Given the description of an element on the screen output the (x, y) to click on. 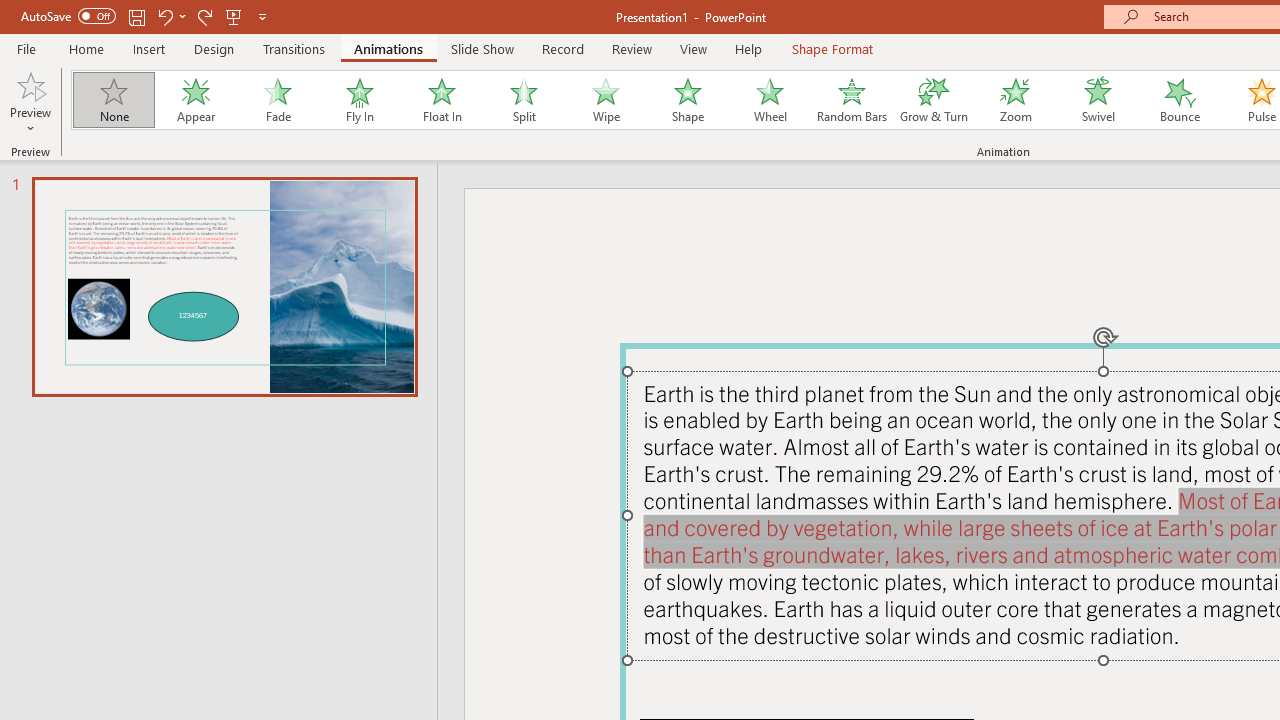
Grow & Turn (934, 100)
Redo (204, 15)
Customize Quick Access Toolbar (262, 15)
From Beginning (234, 15)
Shape Format (832, 48)
Wipe (605, 100)
Split (523, 100)
Preview (30, 102)
Quick Access Toolbar (145, 16)
Review (631, 48)
Bounce (1180, 100)
Preview (30, 84)
